Given the description of an element on the screen output the (x, y) to click on. 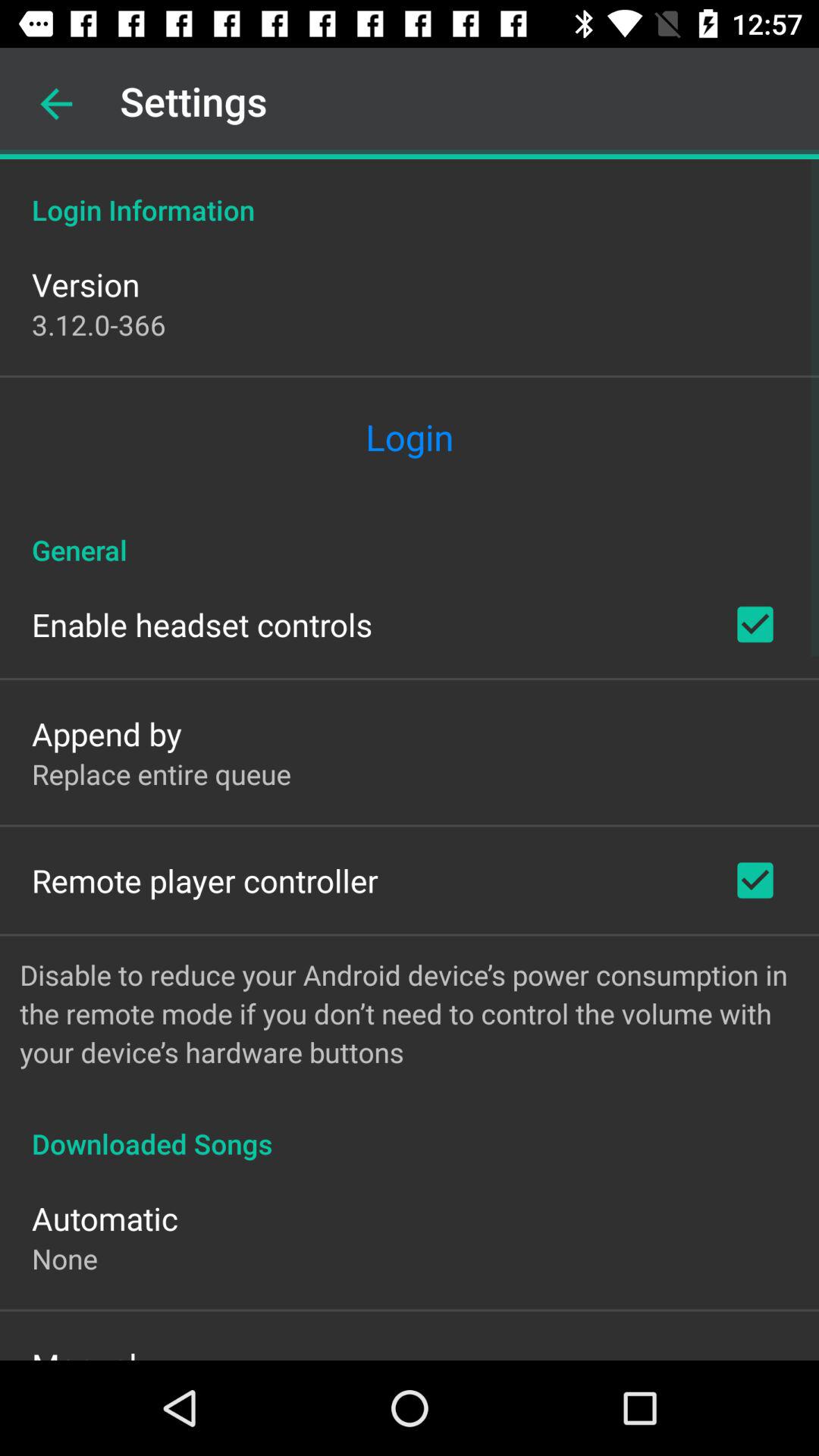
select the icon above the login information (56, 103)
